Given the description of an element on the screen output the (x, y) to click on. 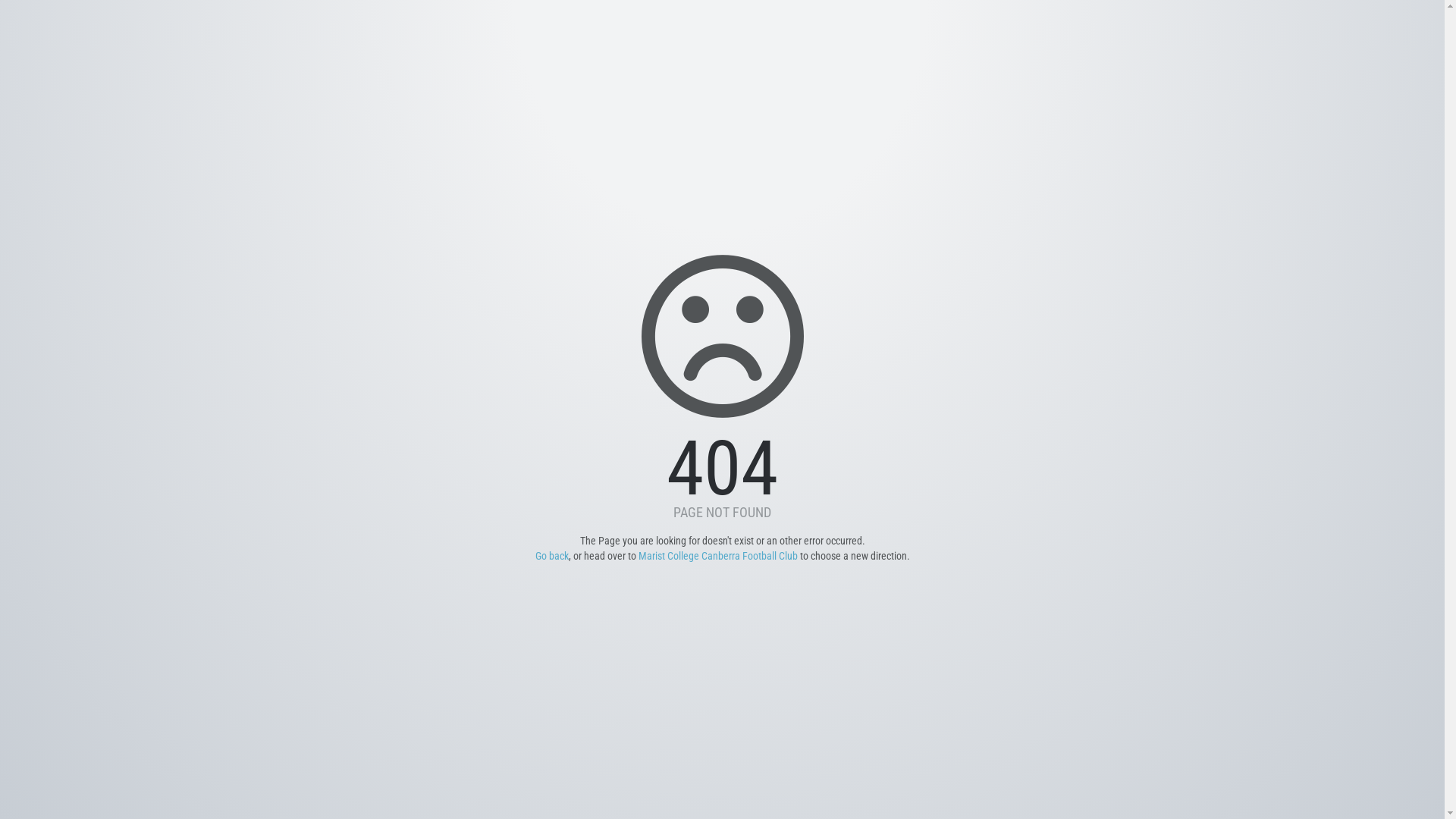
Go back Element type: text (551, 555)
Marist College Canberra Football Club Element type: text (719, 555)
